Given the description of an element on the screen output the (x, y) to click on. 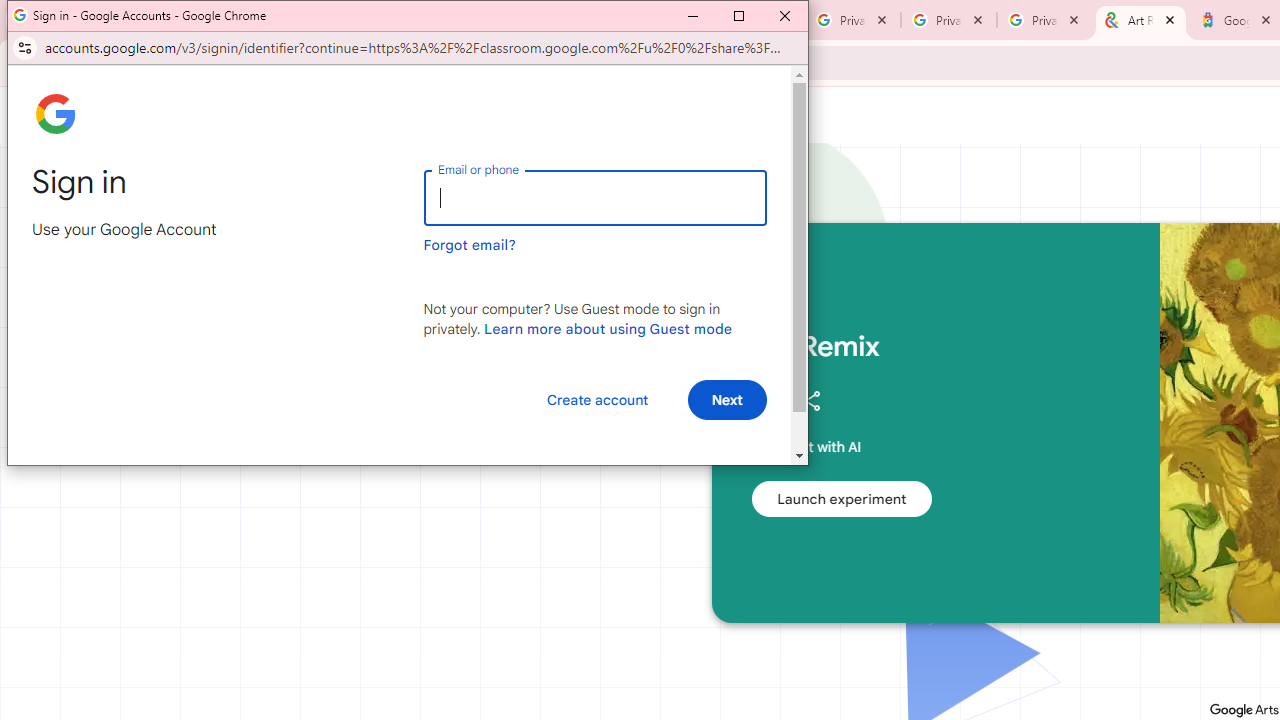
Privacy Checkup (1045, 20)
Create account (597, 399)
